Given the description of an element on the screen output the (x, y) to click on. 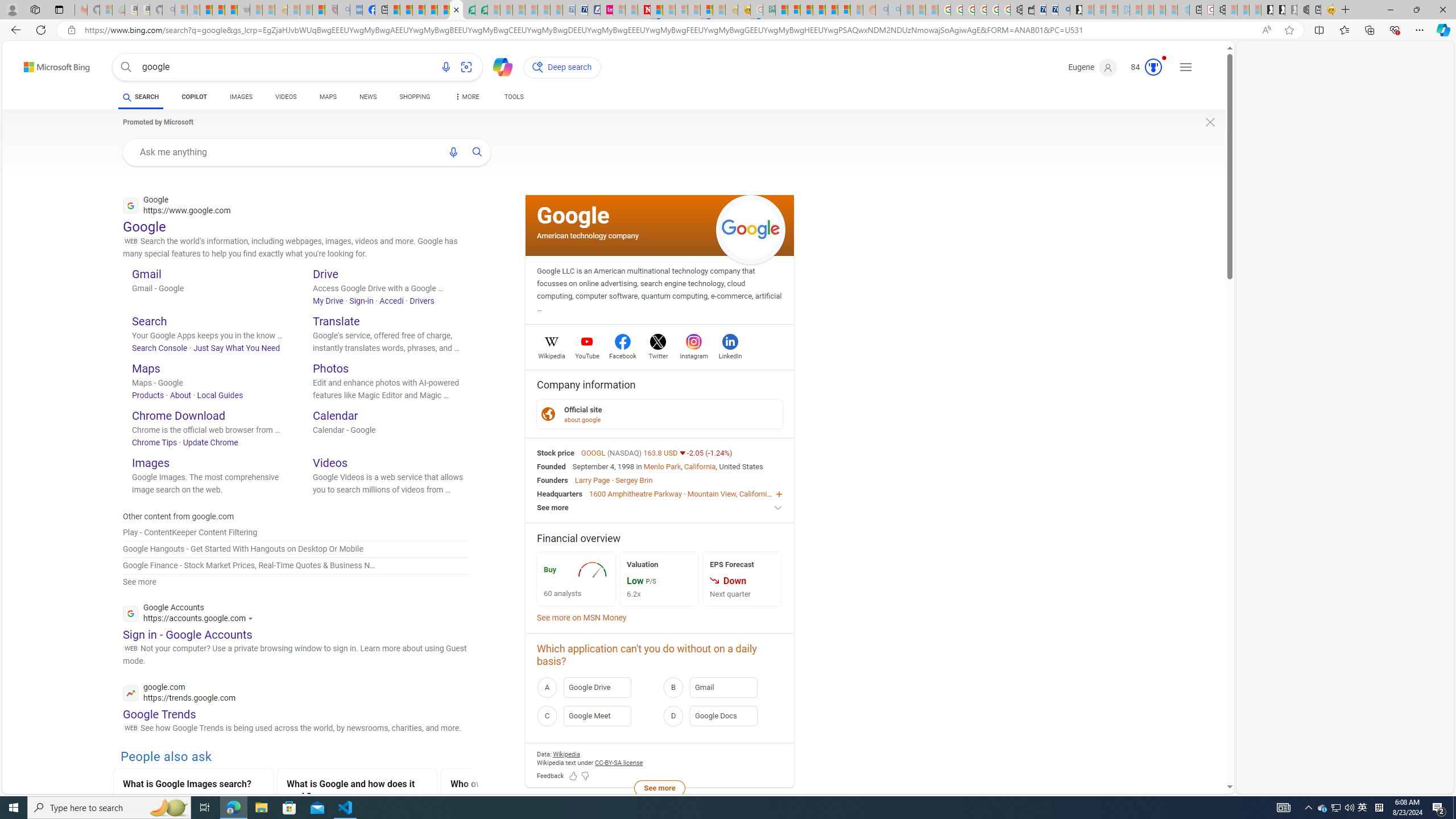
Search using an image (465, 66)
Bing Real Estate - Home sales and rental listings (1063, 9)
Founded (551, 465)
Videos (330, 462)
COPILOT (193, 96)
My Drive (328, 300)
TOOLS (512, 98)
